Given the description of an element on the screen output the (x, y) to click on. 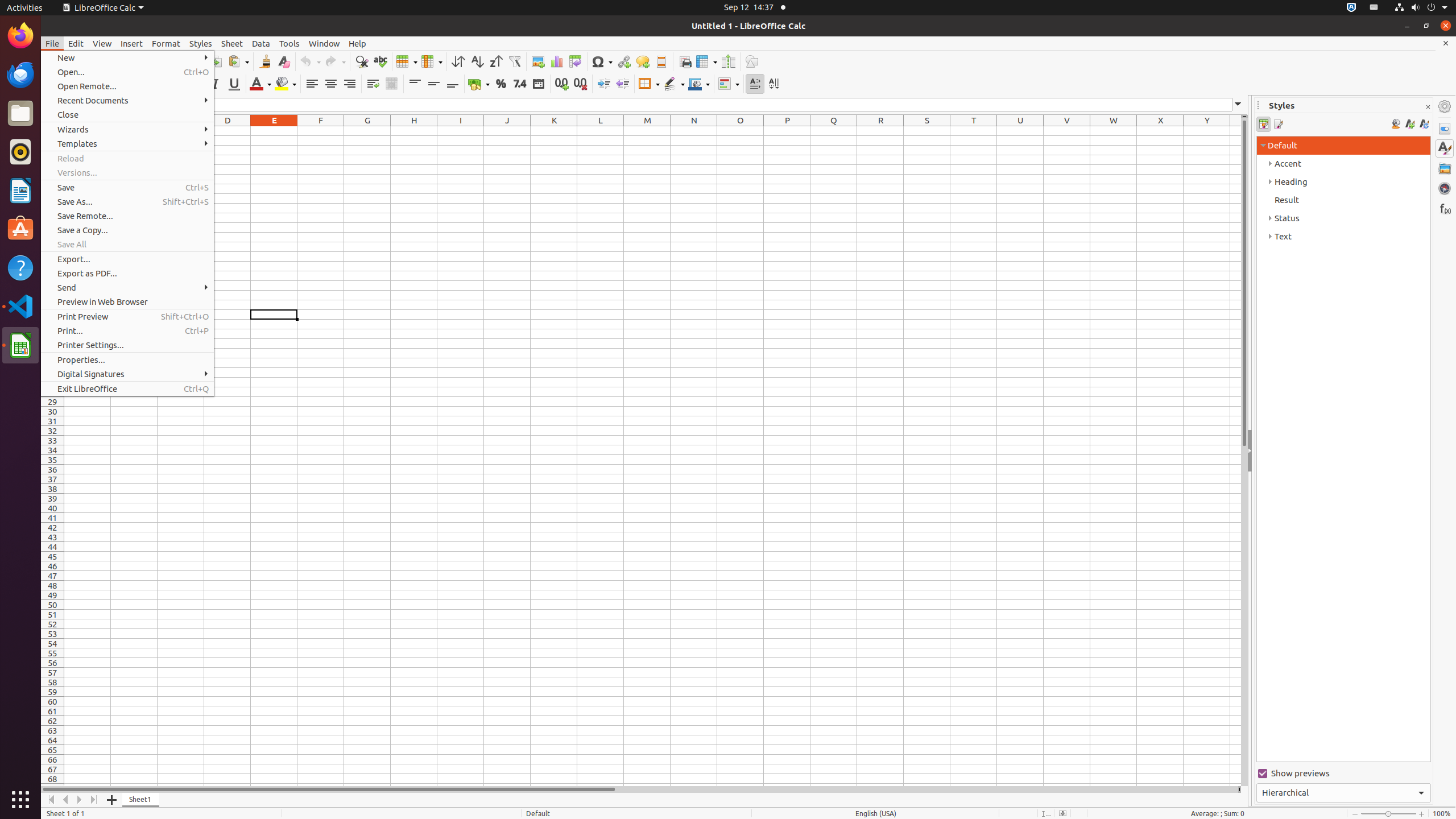
Print Area Element type: push-button (684, 61)
View Element type: menu (102, 43)
Page Styles Element type: push-button (1277, 123)
O1 Element type: table-cell (740, 130)
Align Right Element type: push-button (349, 83)
